Given the description of an element on the screen output the (x, y) to click on. 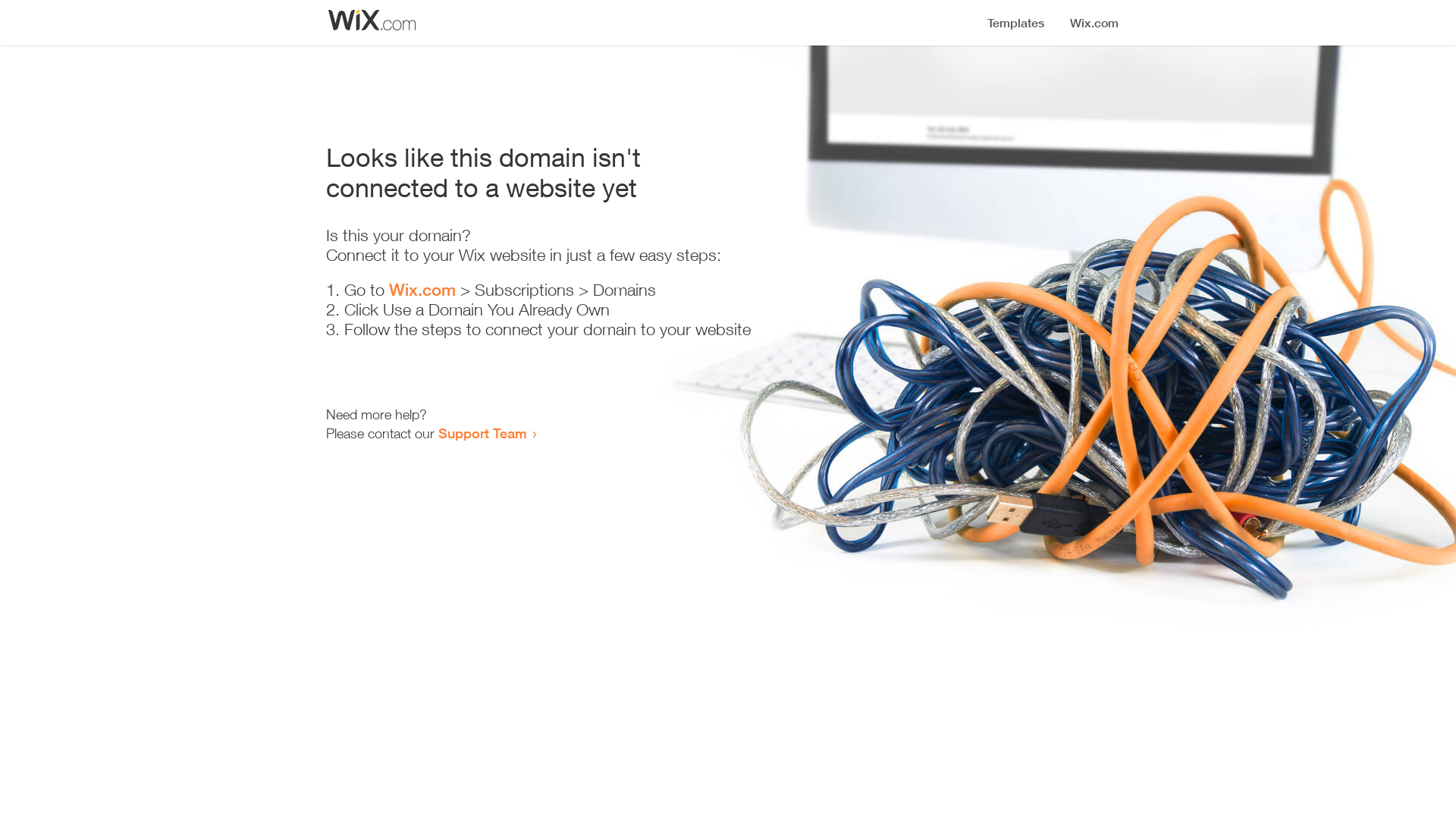
Support Team Element type: text (482, 432)
Wix.com Element type: text (422, 289)
